Given the description of an element on the screen output the (x, y) to click on. 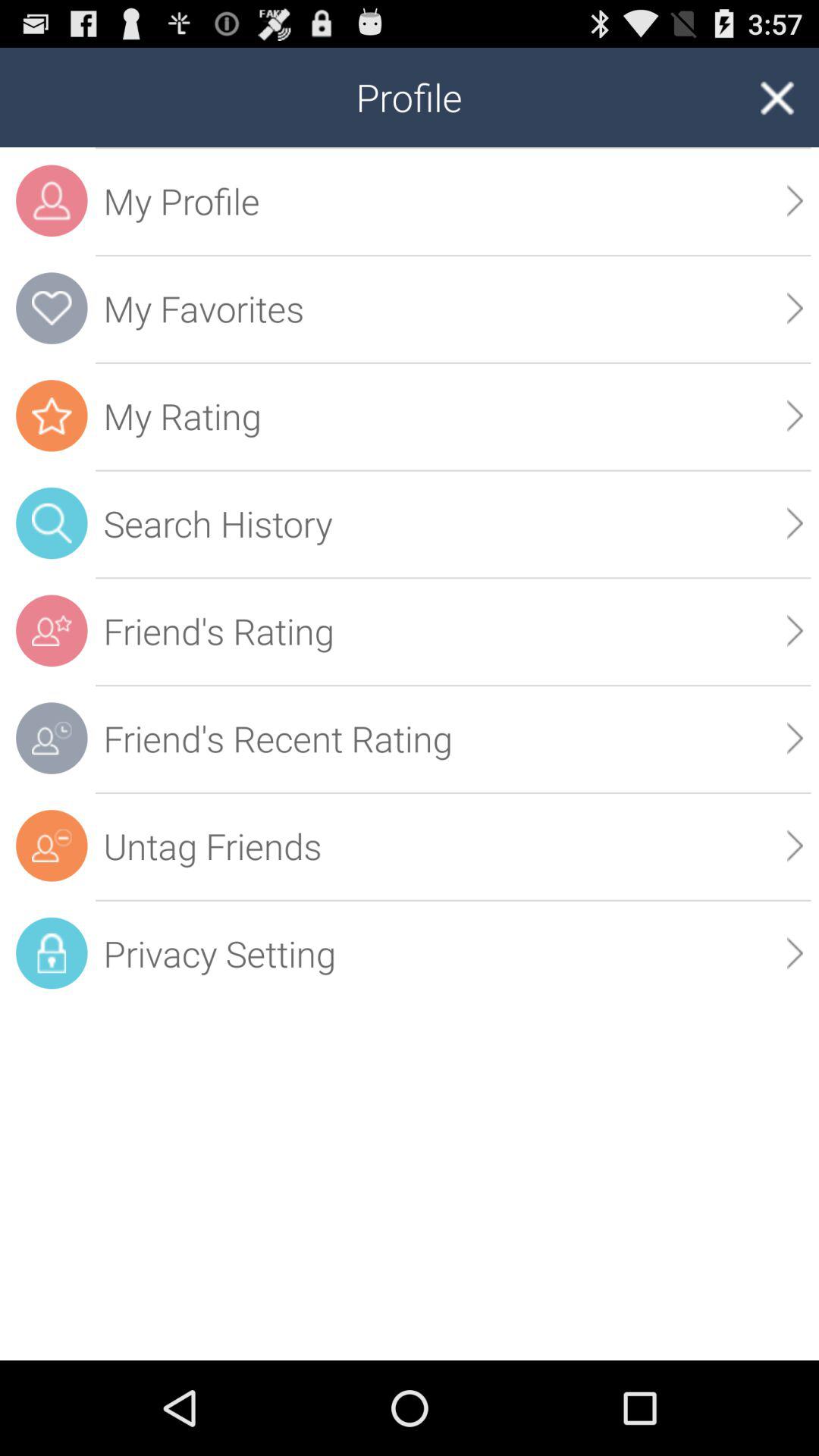
click the icon below untag friends (795, 953)
